Given the description of an element on the screen output the (x, y) to click on. 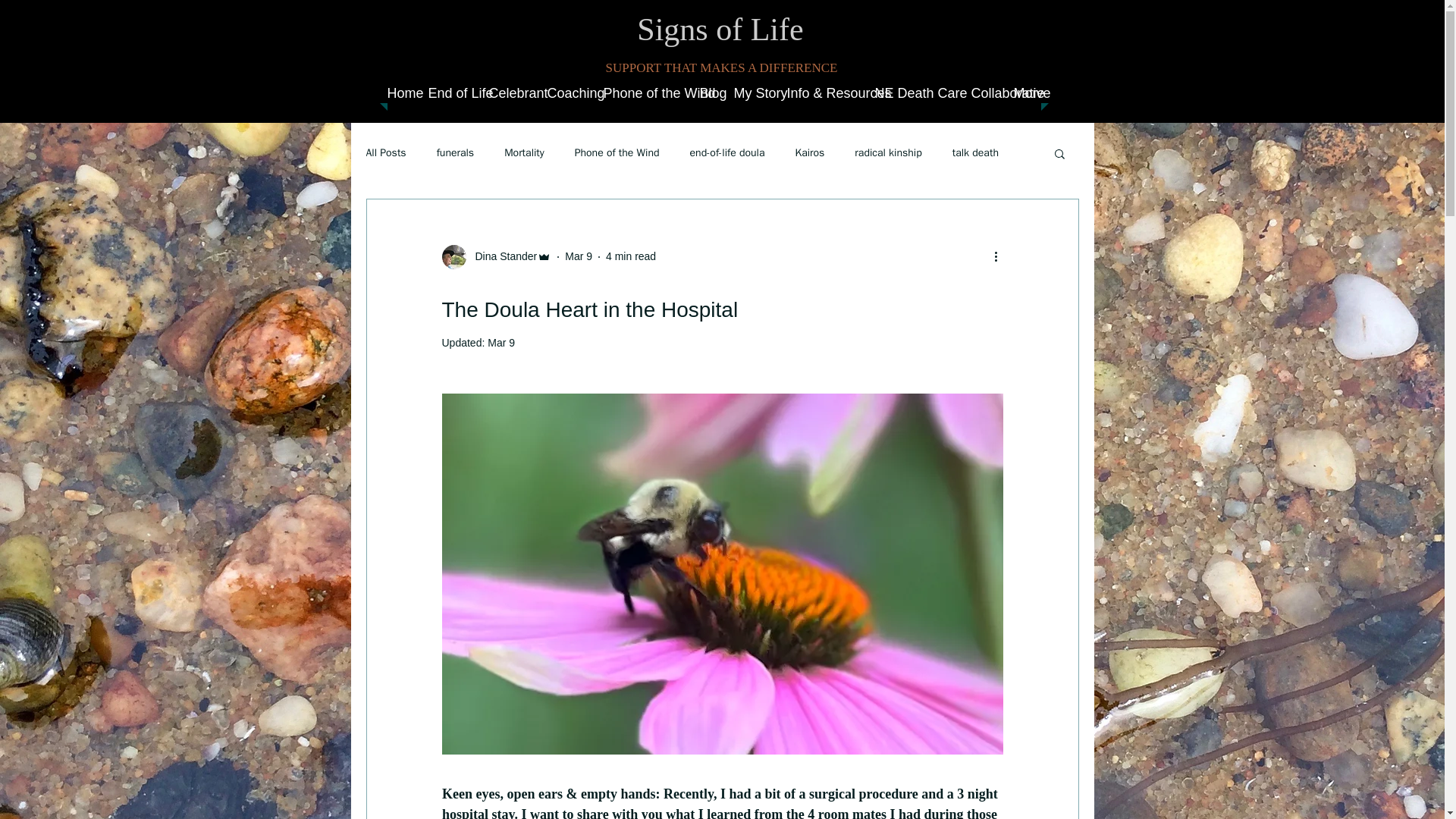
Mar 9 (501, 342)
talk death (975, 151)
NE Death Care Collaborative (936, 92)
End of Life (450, 92)
My Story (752, 92)
Celebrant (509, 92)
Mortality (523, 151)
funerals (455, 151)
Kairos (809, 151)
Dina Stander (501, 256)
